Given the description of an element on the screen output the (x, y) to click on. 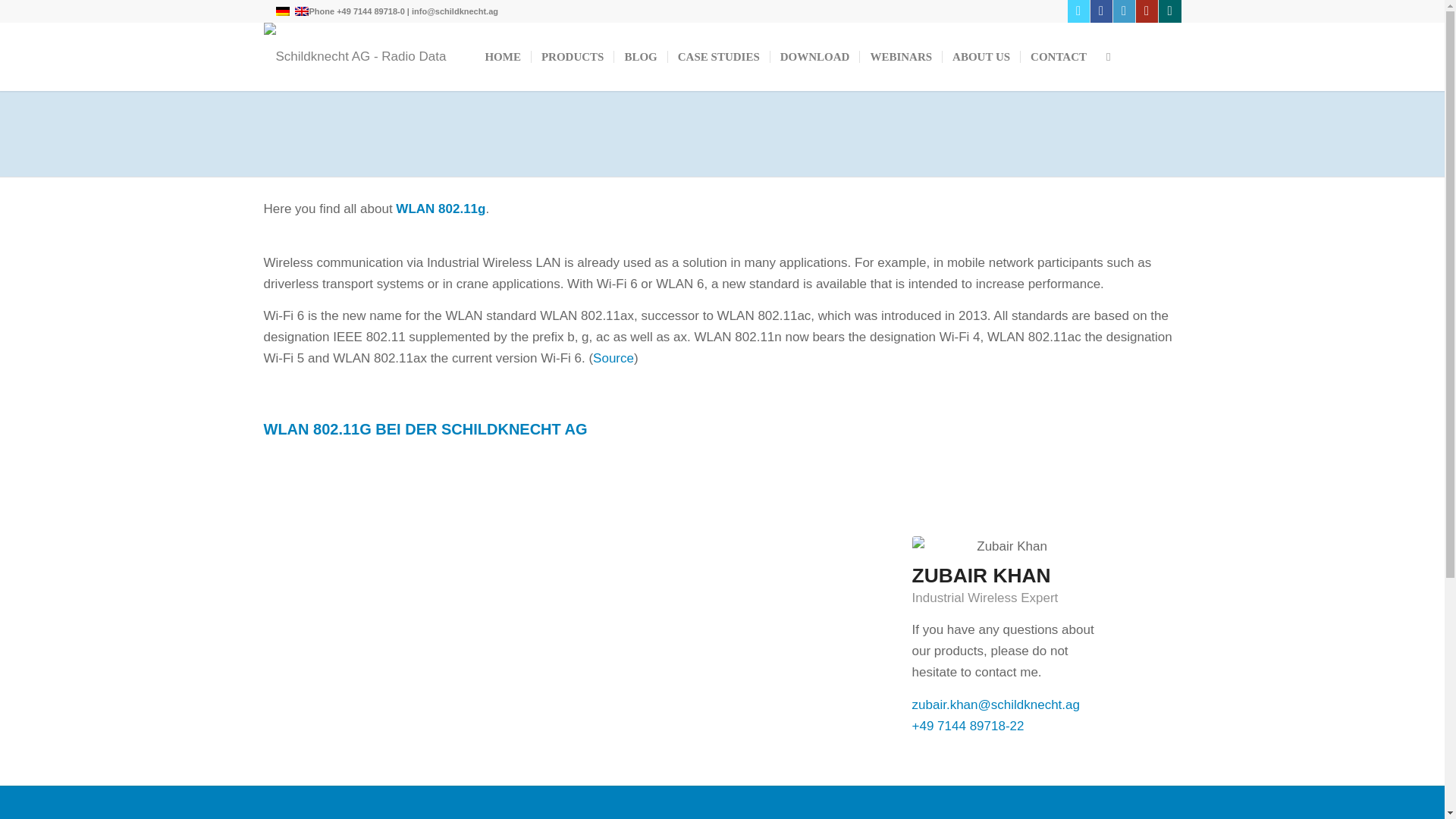
Twitter (1078, 11)
LinkedIn (1124, 11)
PRODUCTS (572, 56)
BLOG (639, 56)
HOME (502, 56)
Youtube (1146, 11)
English (301, 10)
Xing (1169, 11)
Facebook (1101, 11)
Deutsch (282, 10)
